Given the description of an element on the screen output the (x, y) to click on. 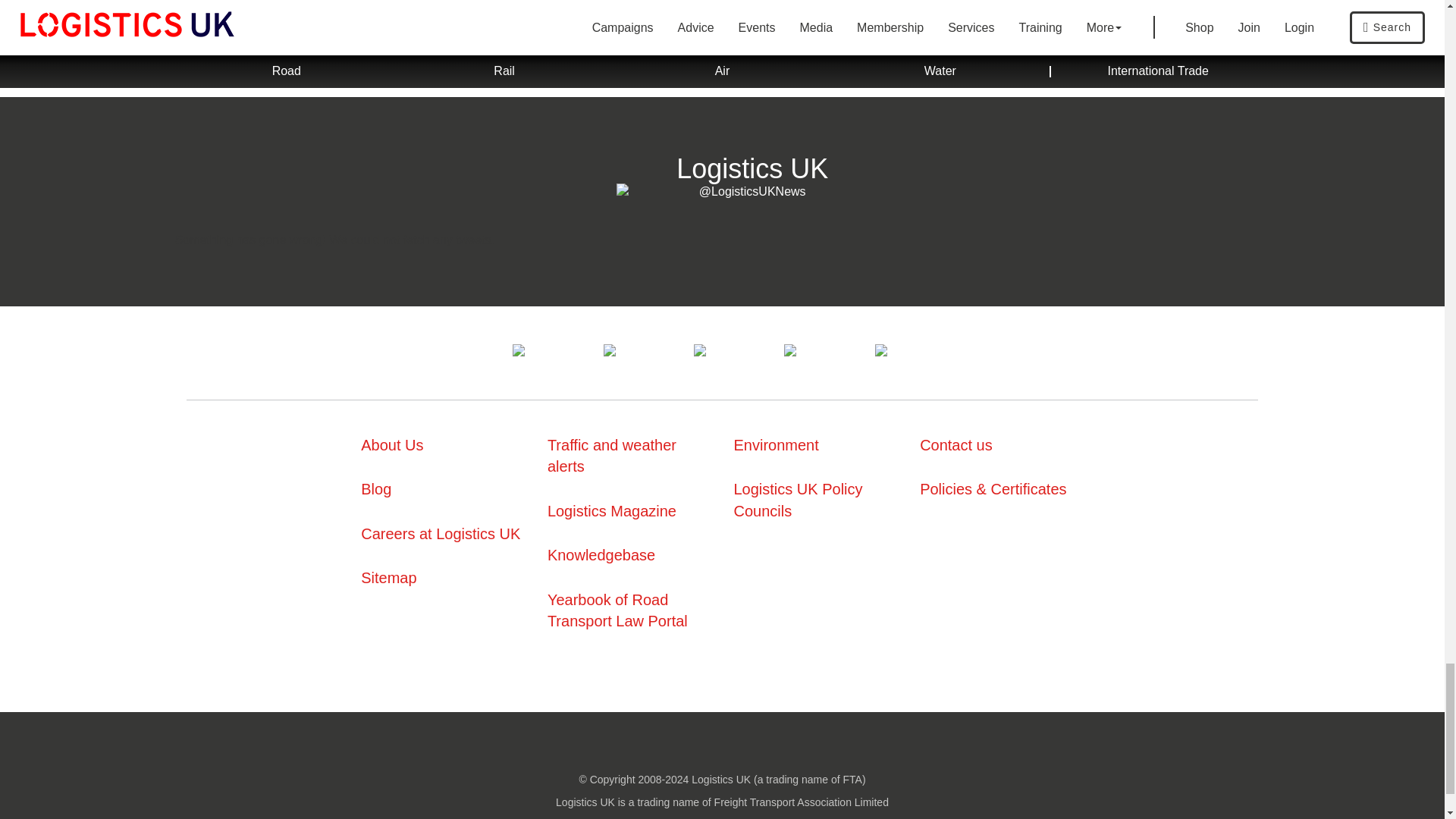
Blog (376, 488)
About Us (392, 444)
